Given the description of an element on the screen output the (x, y) to click on. 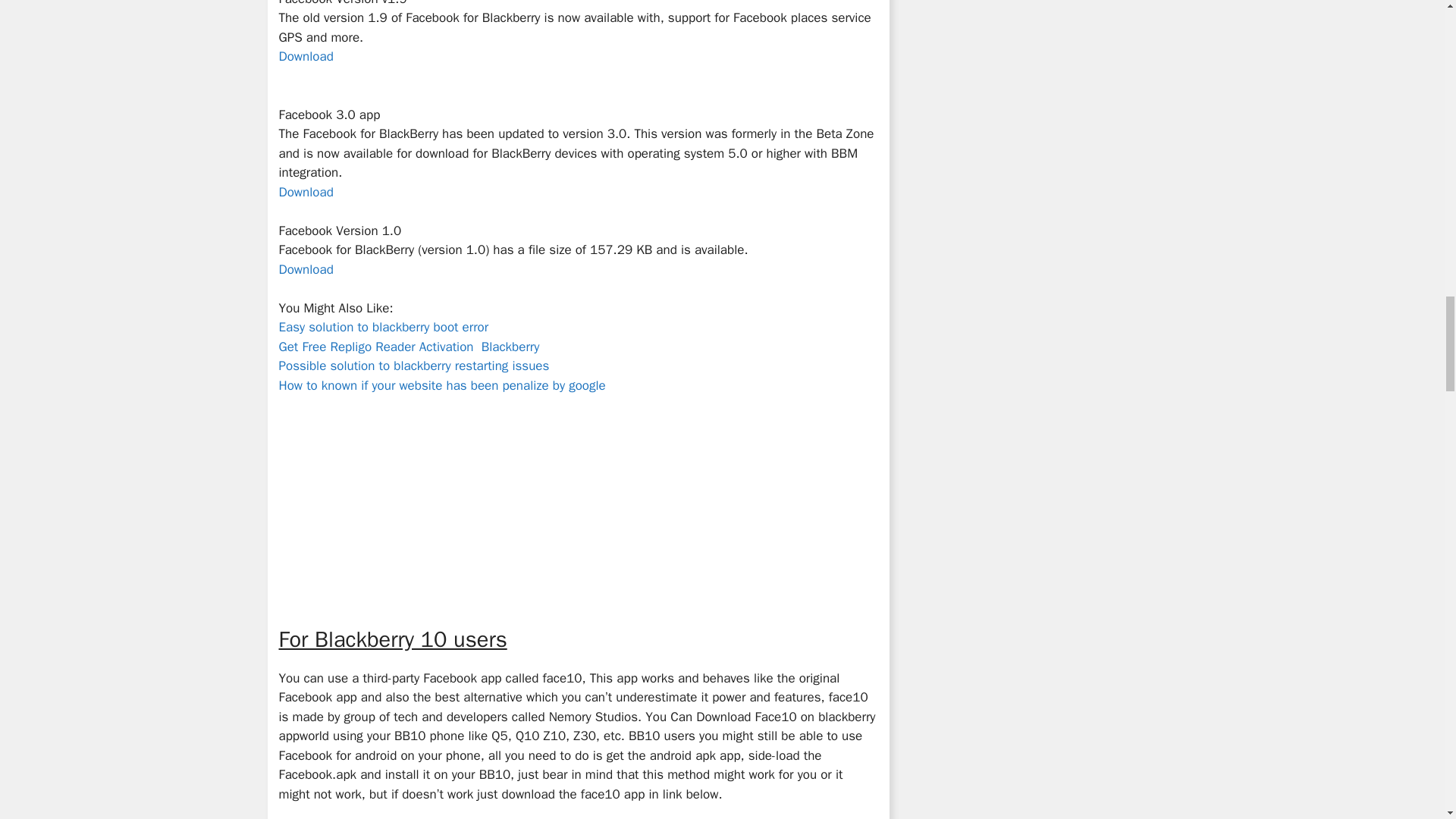
Download (306, 56)
Get Free Repligo Reader Activation  Blackberry (409, 346)
Possible solution to blackberry restarting issues (414, 365)
Easy solution to blackberry boot error (384, 326)
Download  (308, 191)
Download (306, 269)
How to known if your website has been penalize by google (442, 385)
